Given the description of an element on the screen output the (x, y) to click on. 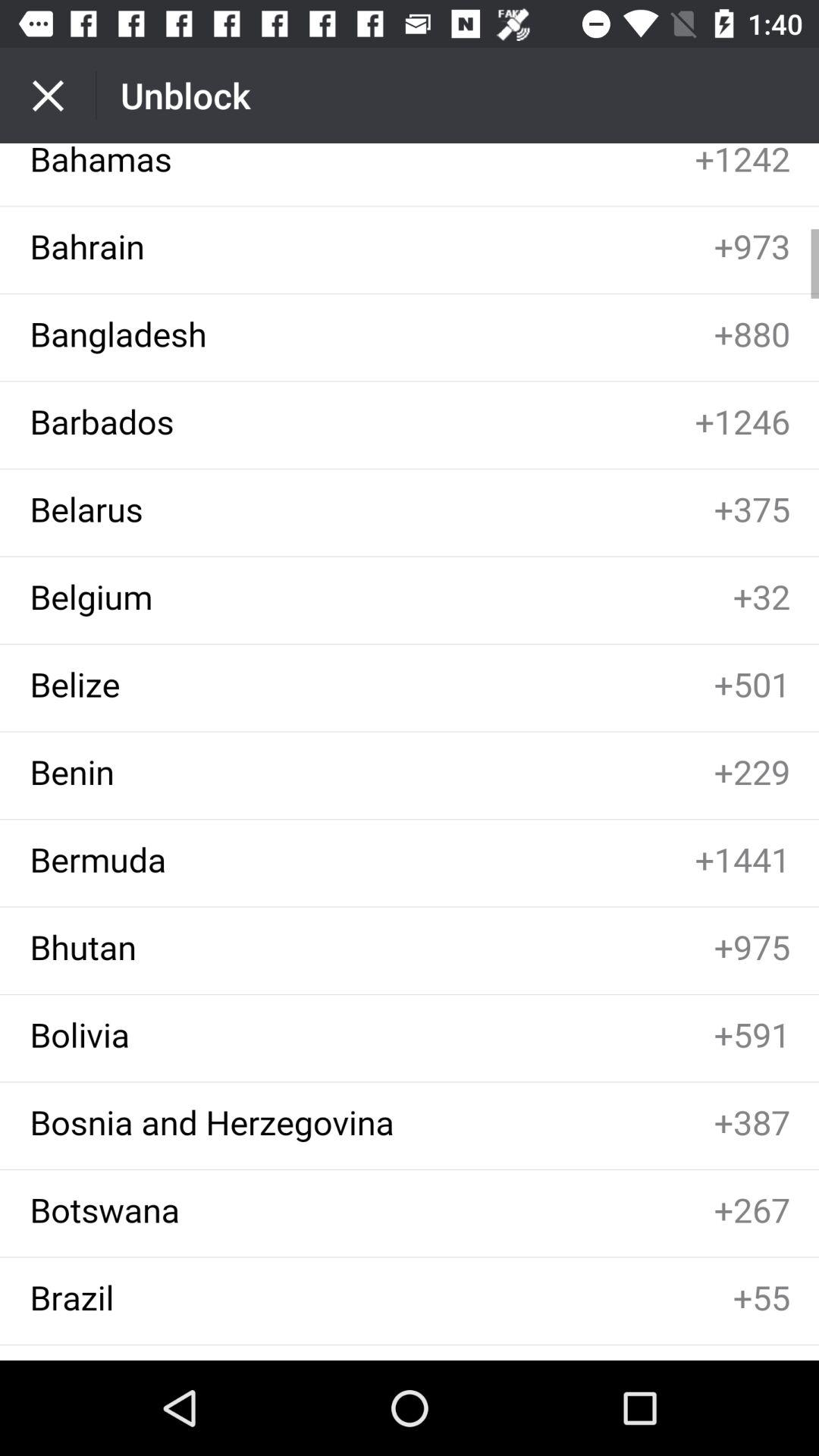
article in middle (409, 751)
